Given the description of an element on the screen output the (x, y) to click on. 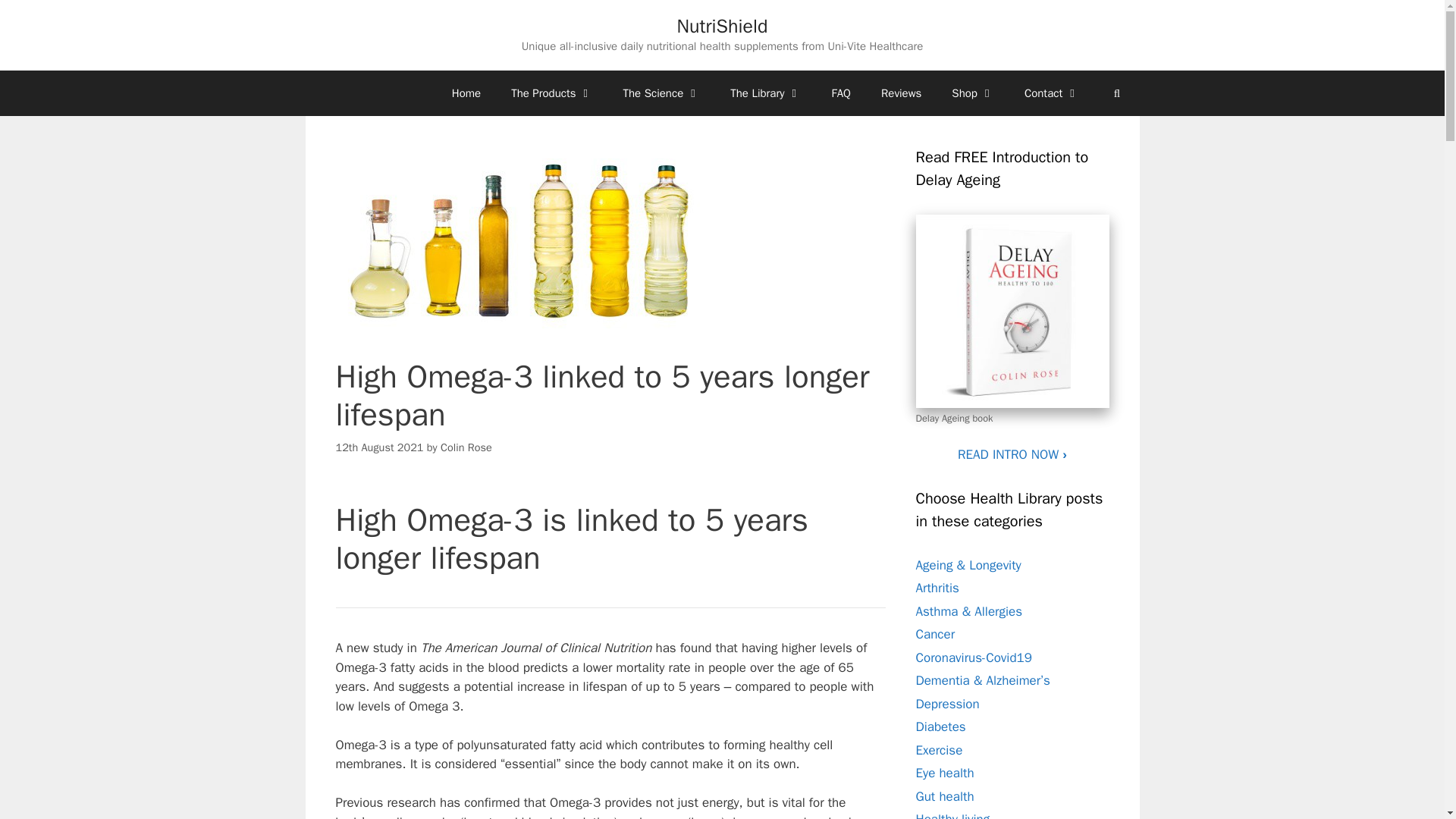
The Products (551, 92)
The Library (764, 92)
View all posts by Colin Rose (466, 446)
Reviews (901, 92)
FAQ (841, 92)
NutriShield (722, 25)
Shop (972, 92)
Home (466, 92)
The Science (662, 92)
